Given the description of an element on the screen output the (x, y) to click on. 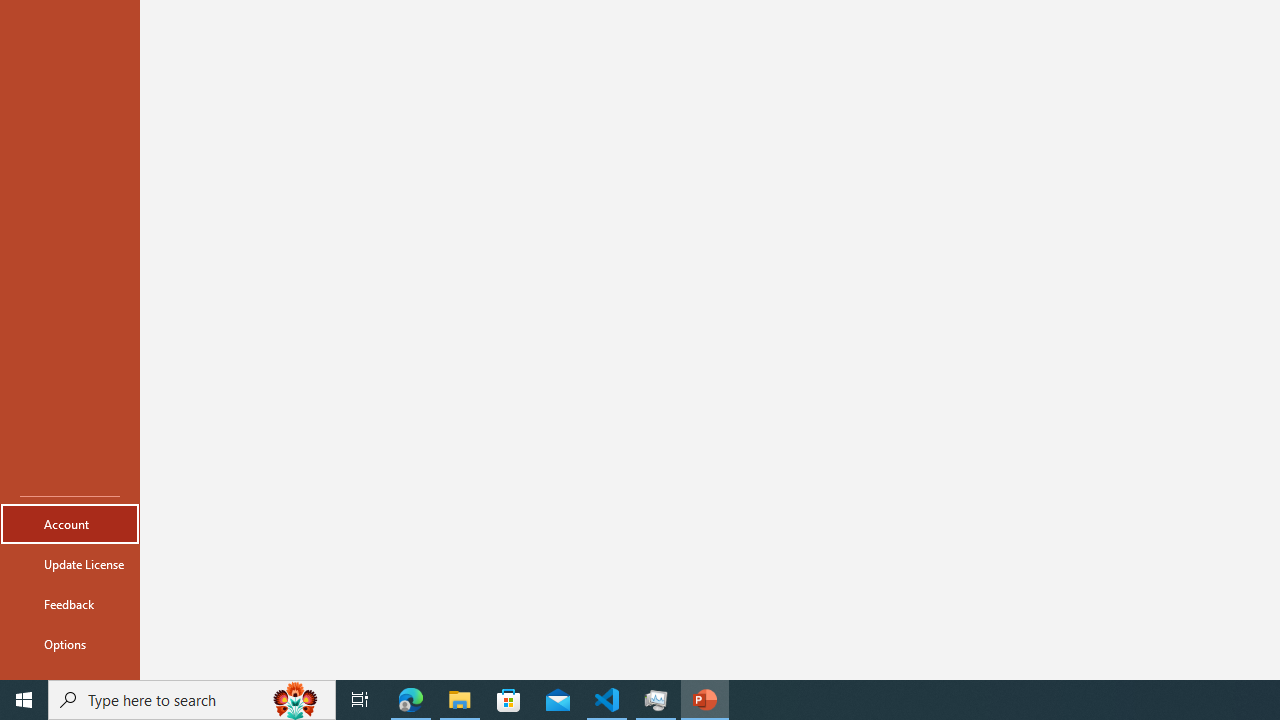
Spelling and Grammar Check Errors (208, 640)
Language Chinese (Simplified, Mainland China) (370, 640)
